Given the description of an element on the screen output the (x, y) to click on. 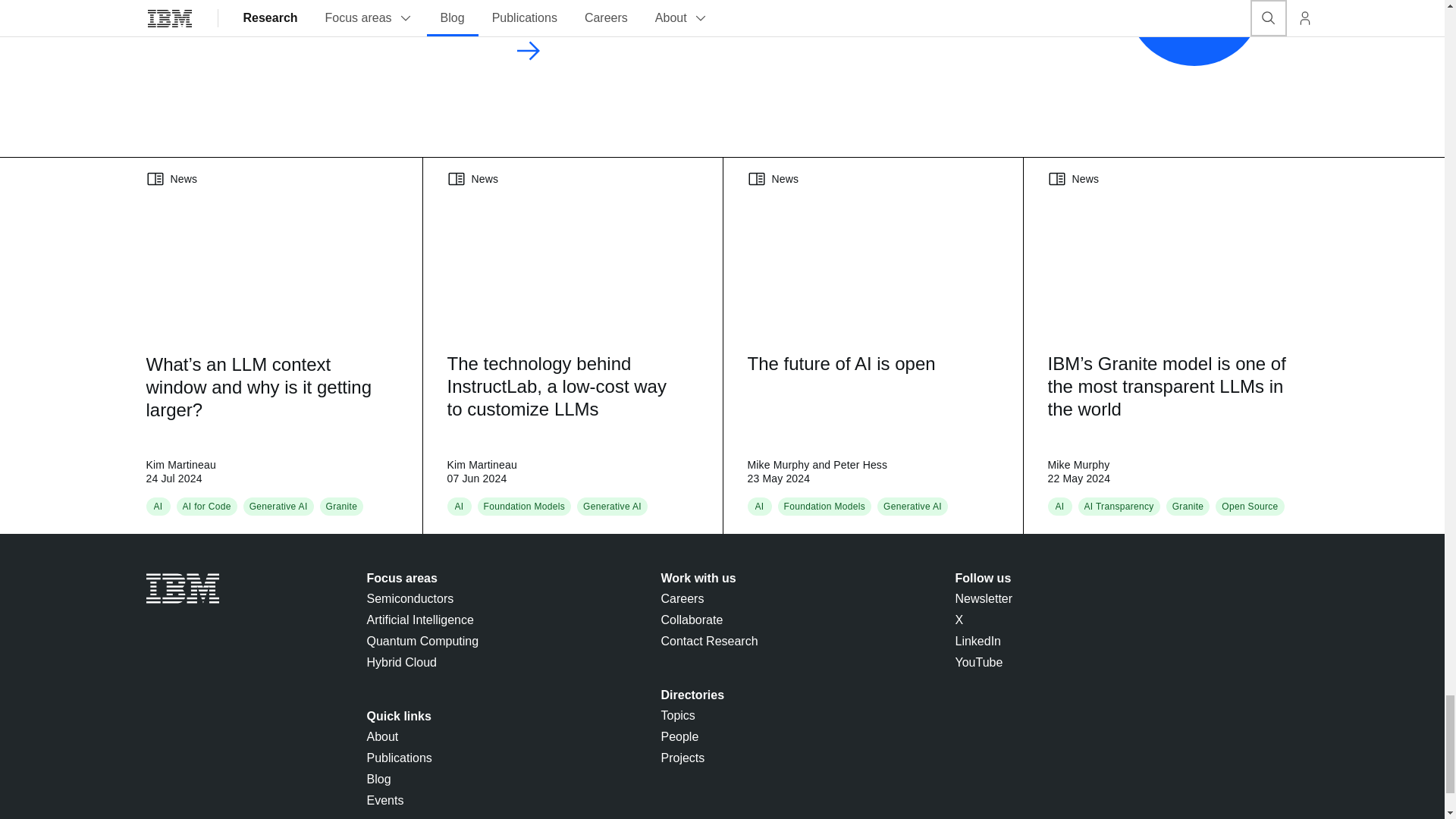
Generative AI (912, 506)
Foundation Models (524, 506)
Generative AI (277, 506)
AI for Code (206, 506)
Foundation Models (825, 506)
Generative AI (612, 506)
IBM Logo (181, 588)
AI Transparency (1119, 506)
Granite (342, 506)
